Given the description of an element on the screen output the (x, y) to click on. 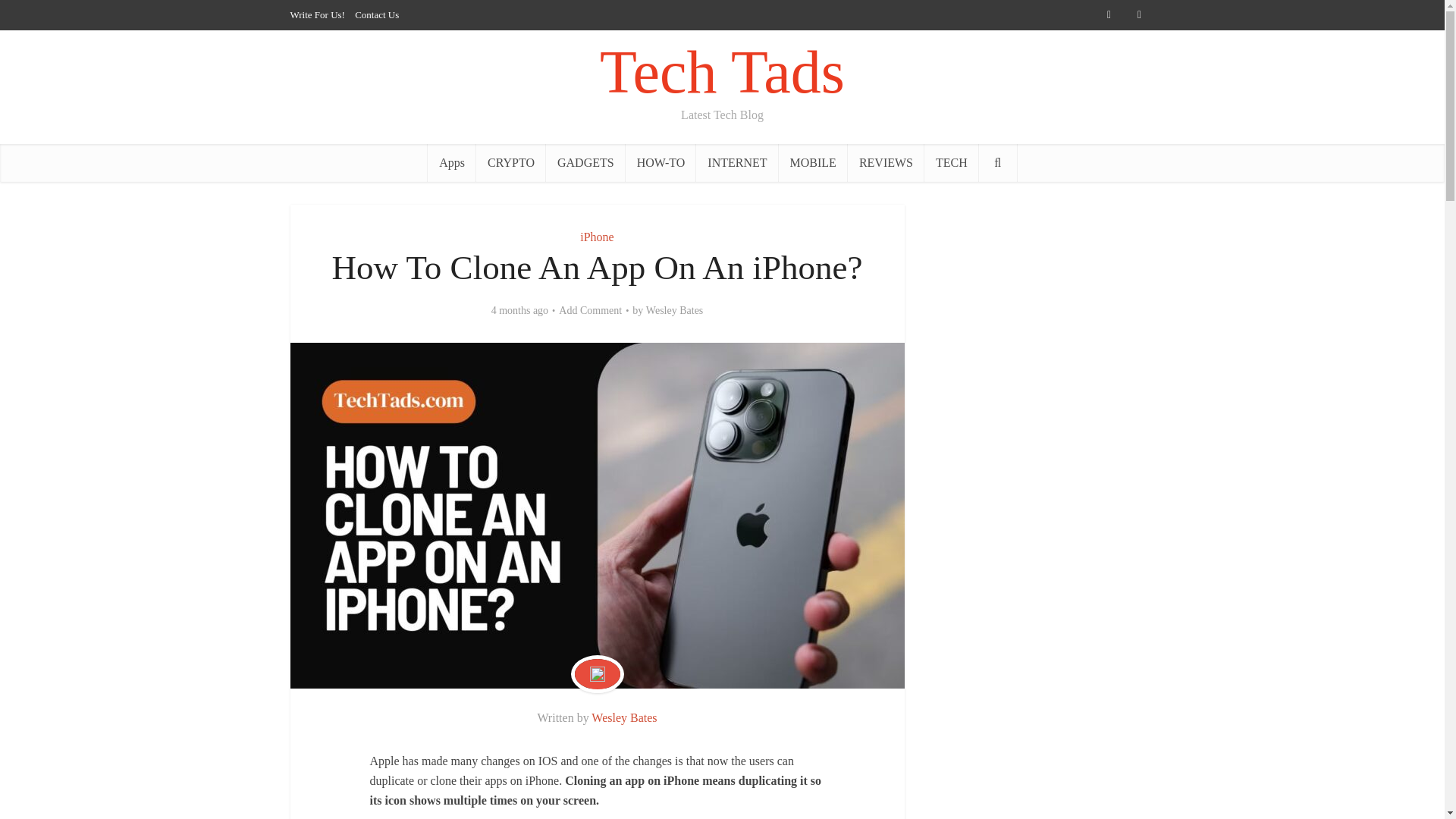
Tech Tads (721, 71)
Tech Tads (721, 71)
iPhone (595, 236)
MOBILE (812, 162)
Contact Us (376, 14)
HOW-TO (661, 162)
Write For Us! (316, 14)
Wesley Bates (674, 310)
Wesley Bates (623, 717)
Apps (452, 162)
GADGETS (586, 162)
CRYPTO (511, 162)
REVIEWS (885, 162)
Add Comment (590, 310)
TECH (951, 162)
